Given the description of an element on the screen output the (x, y) to click on. 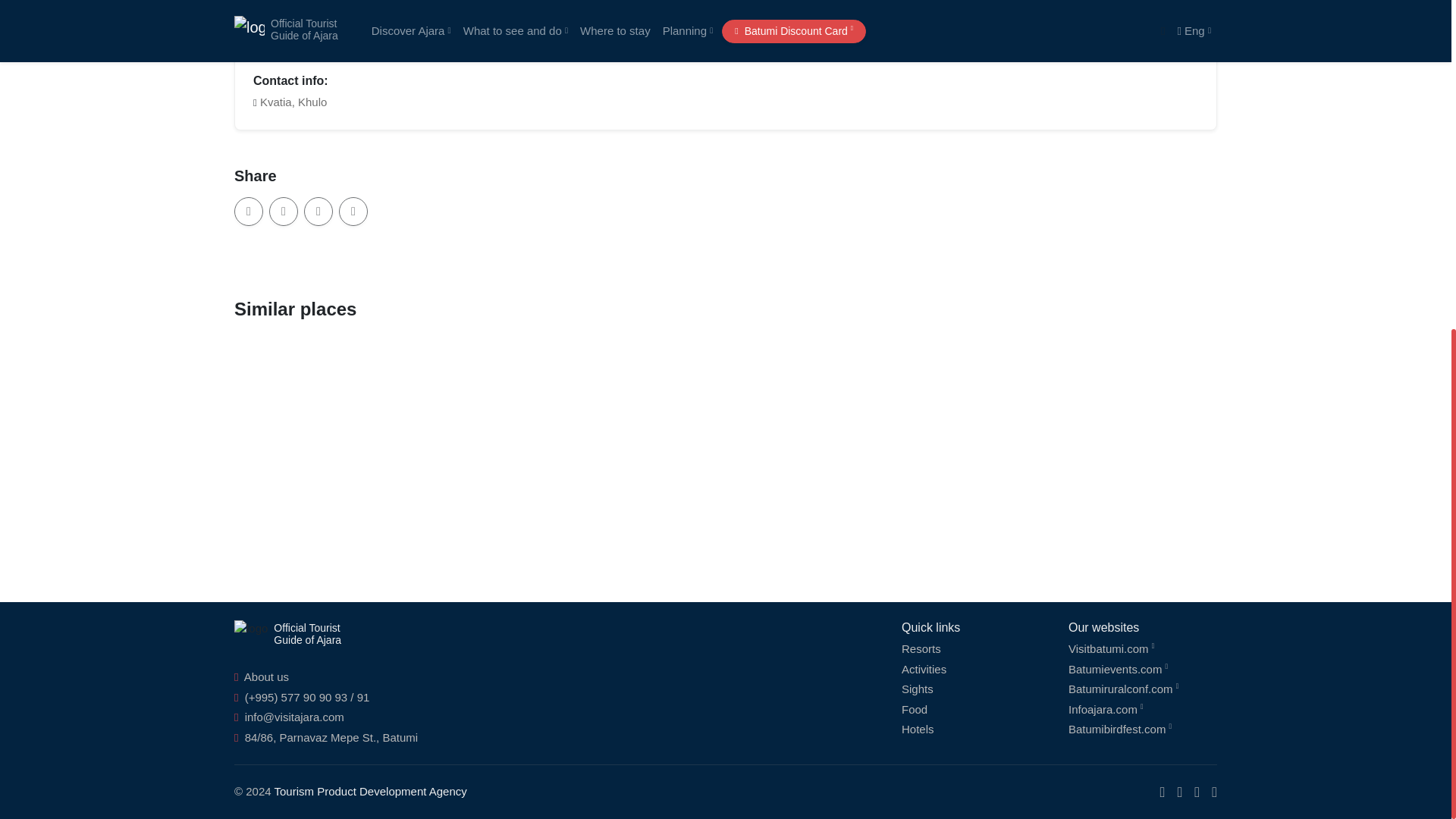
Send to email (283, 211)
Share on Facebook (318, 211)
Copy link (248, 211)
Send to WhatsApp (353, 211)
